Given the description of an element on the screen output the (x, y) to click on. 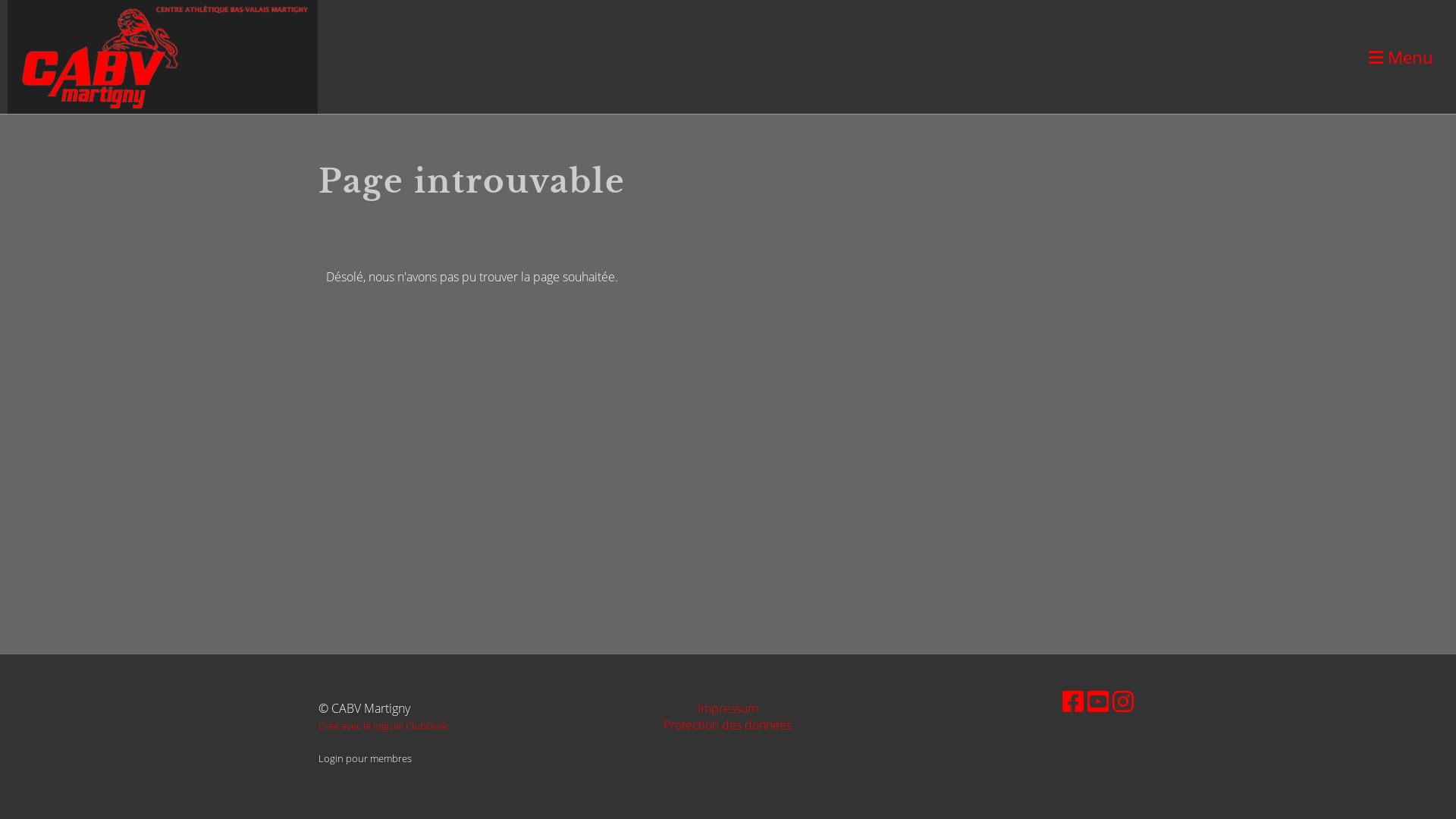
Login pour membres Element type: text (364, 757)
Impressum Element type: text (727, 707)
Menu Element type: text (1400, 57)
